Given the description of an element on the screen output the (x, y) to click on. 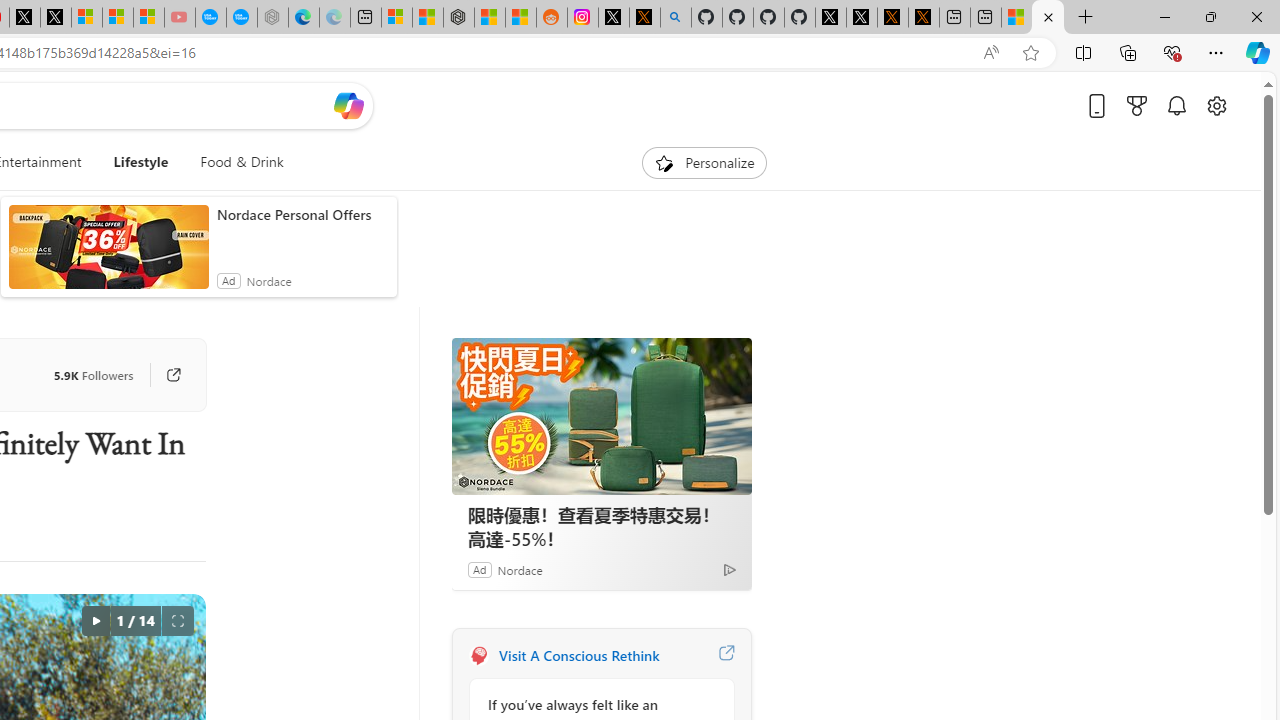
Visit A Conscious Rethink website (726, 655)
Food & Drink (234, 162)
Profile / X (830, 17)
Nordace - Nordace has arrived Hong Kong - Sleeping (272, 17)
Microsoft account | Microsoft Account Privacy Settings (396, 17)
Notifications (1176, 105)
The most popular Google 'how to' searches (241, 17)
anim-content (107, 255)
